Given the description of an element on the screen output the (x, y) to click on. 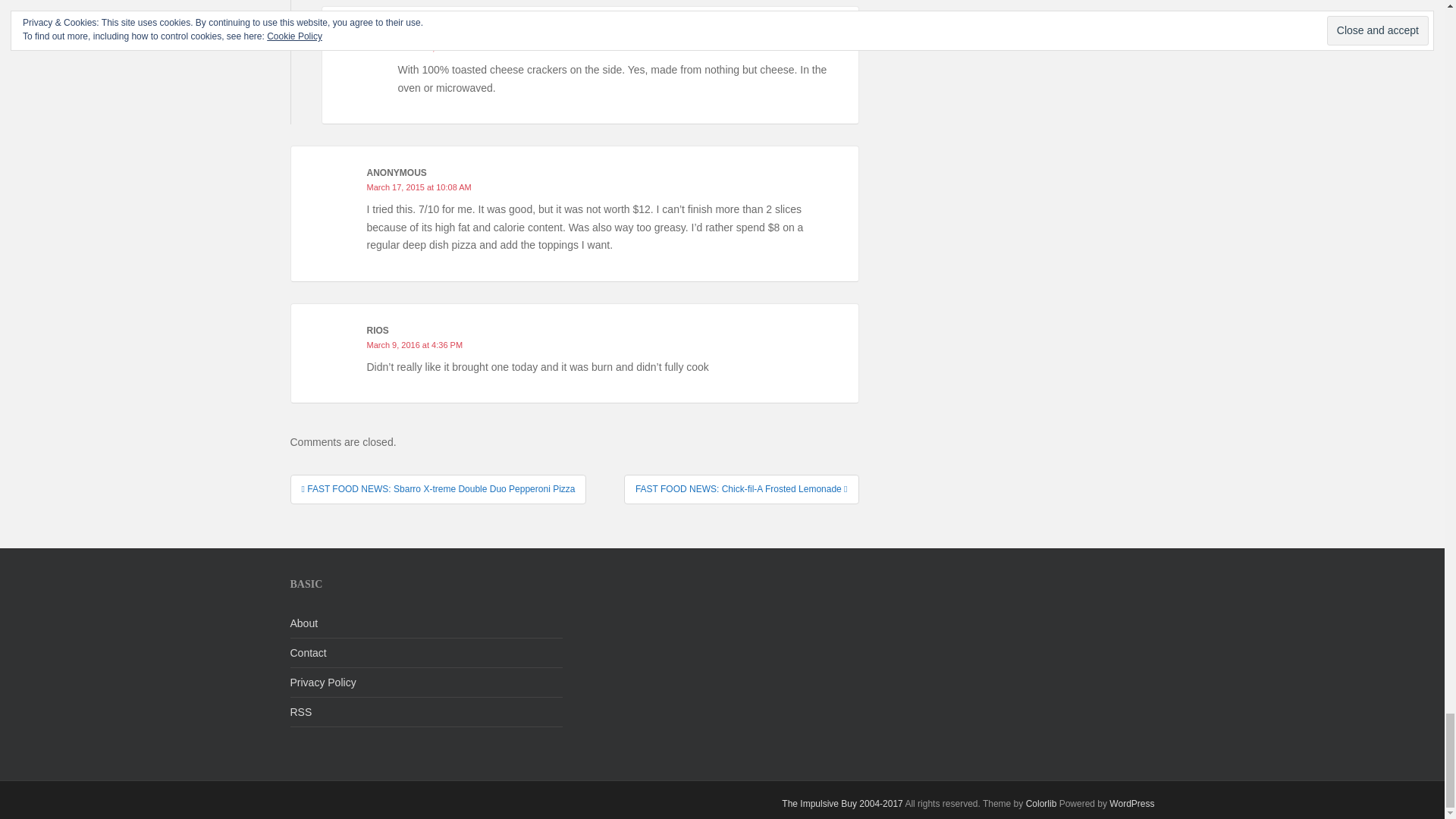
FAST FOOD NEWS: Sbarro X-treme Double Duo Pepperoni Pizza (437, 489)
March 9, 2016 at 4:36 PM (414, 344)
FAST FOOD NEWS: Chick-fil-A Frosted Lemonade (741, 489)
March 17, 2015 at 10:37 PM (449, 47)
March 17, 2015 at 10:08 AM (418, 186)
